Given the description of an element on the screen output the (x, y) to click on. 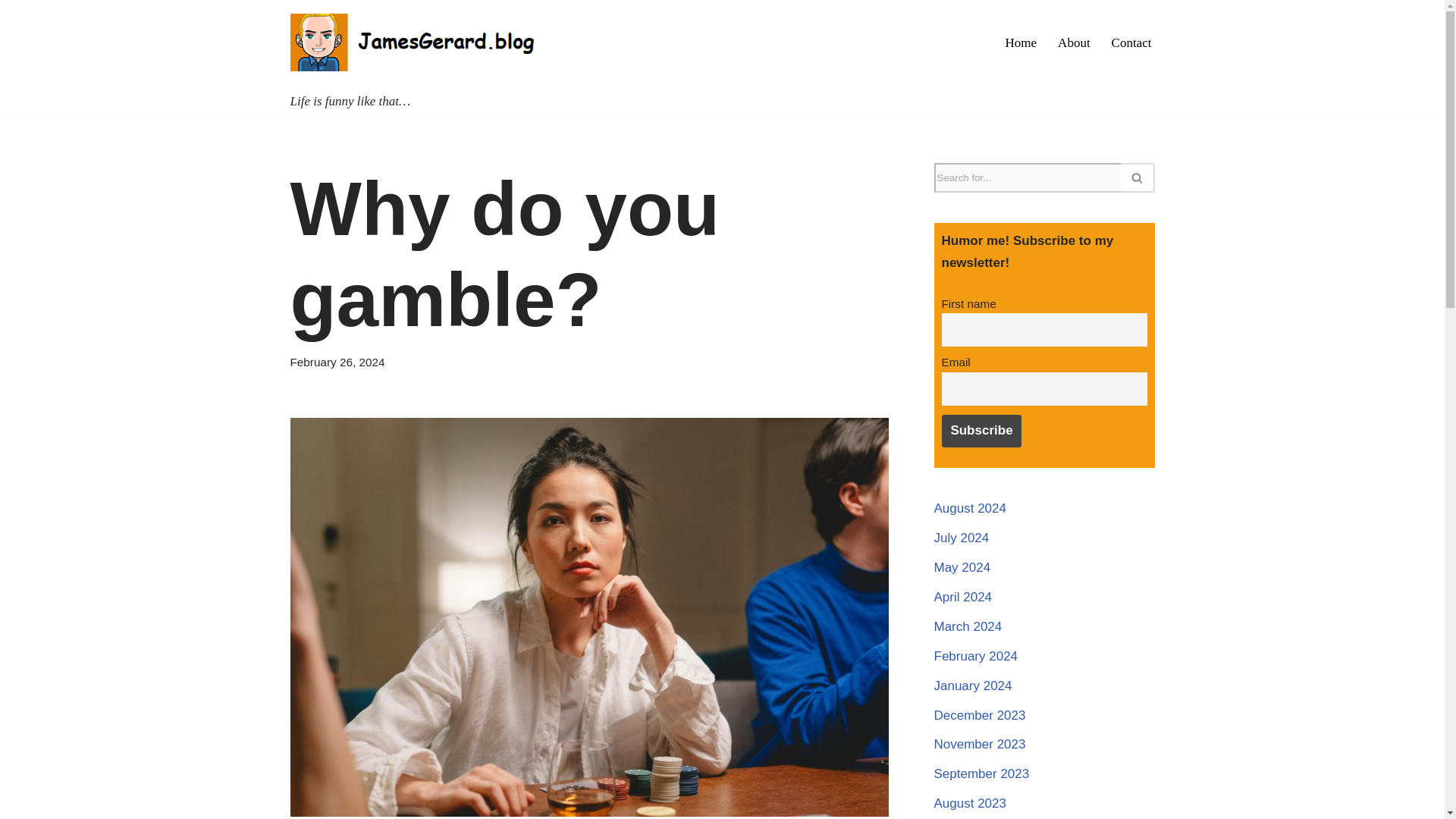
Skip to content (11, 31)
February 2024 (975, 656)
April 2024 (963, 596)
Subscribe (982, 430)
September 2023 (981, 773)
Subscribe (982, 430)
November 2023 (980, 744)
Home (1021, 42)
July 2024 (962, 537)
December 2023 (980, 715)
